Given the description of an element on the screen output the (x, y) to click on. 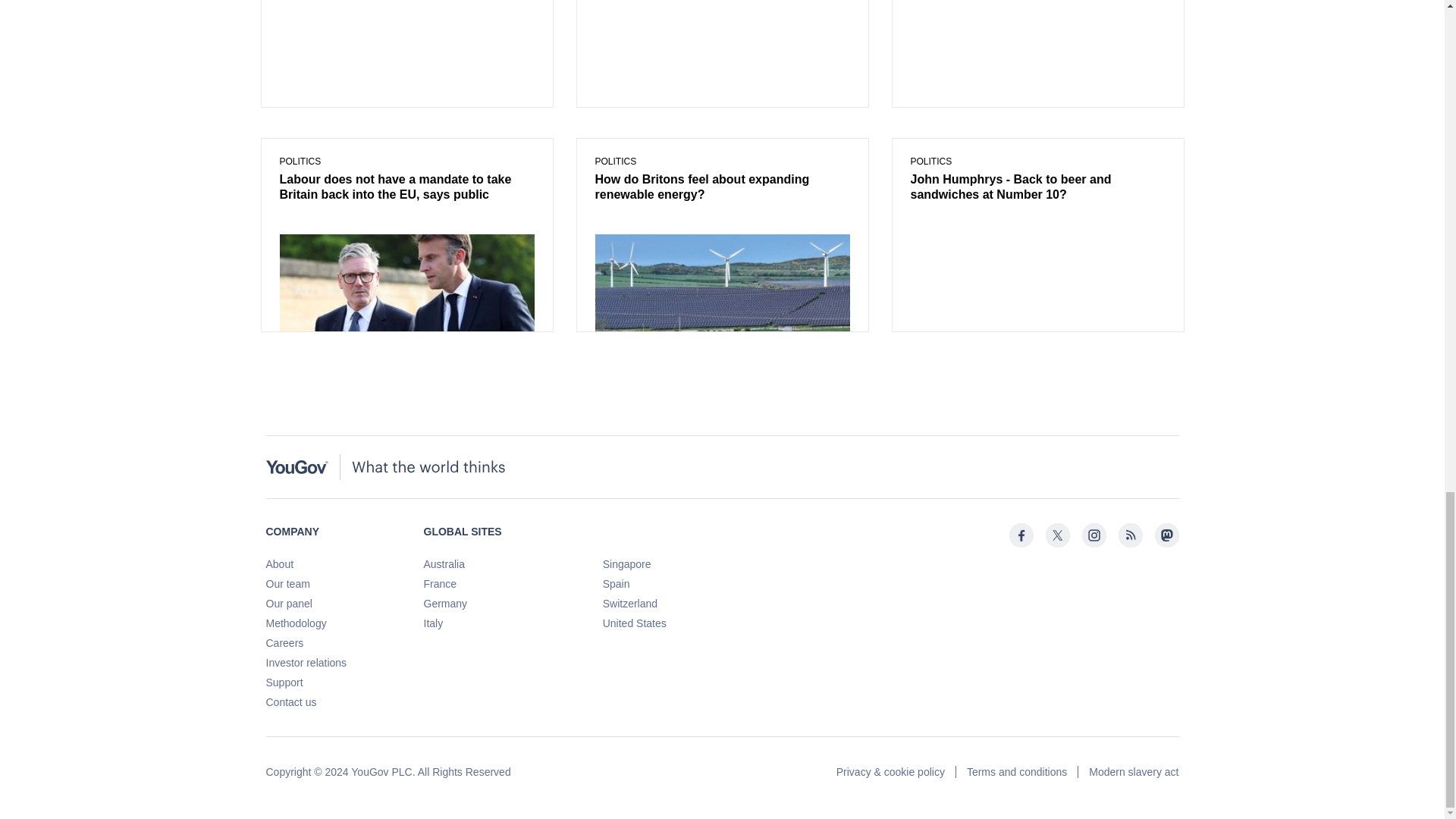
John Humphrys - Back to beer and sandwiches at Number 10? (1037, 187)
How do Britons feel about expanding renewable energy? (721, 187)
